Given the description of an element on the screen output the (x, y) to click on. 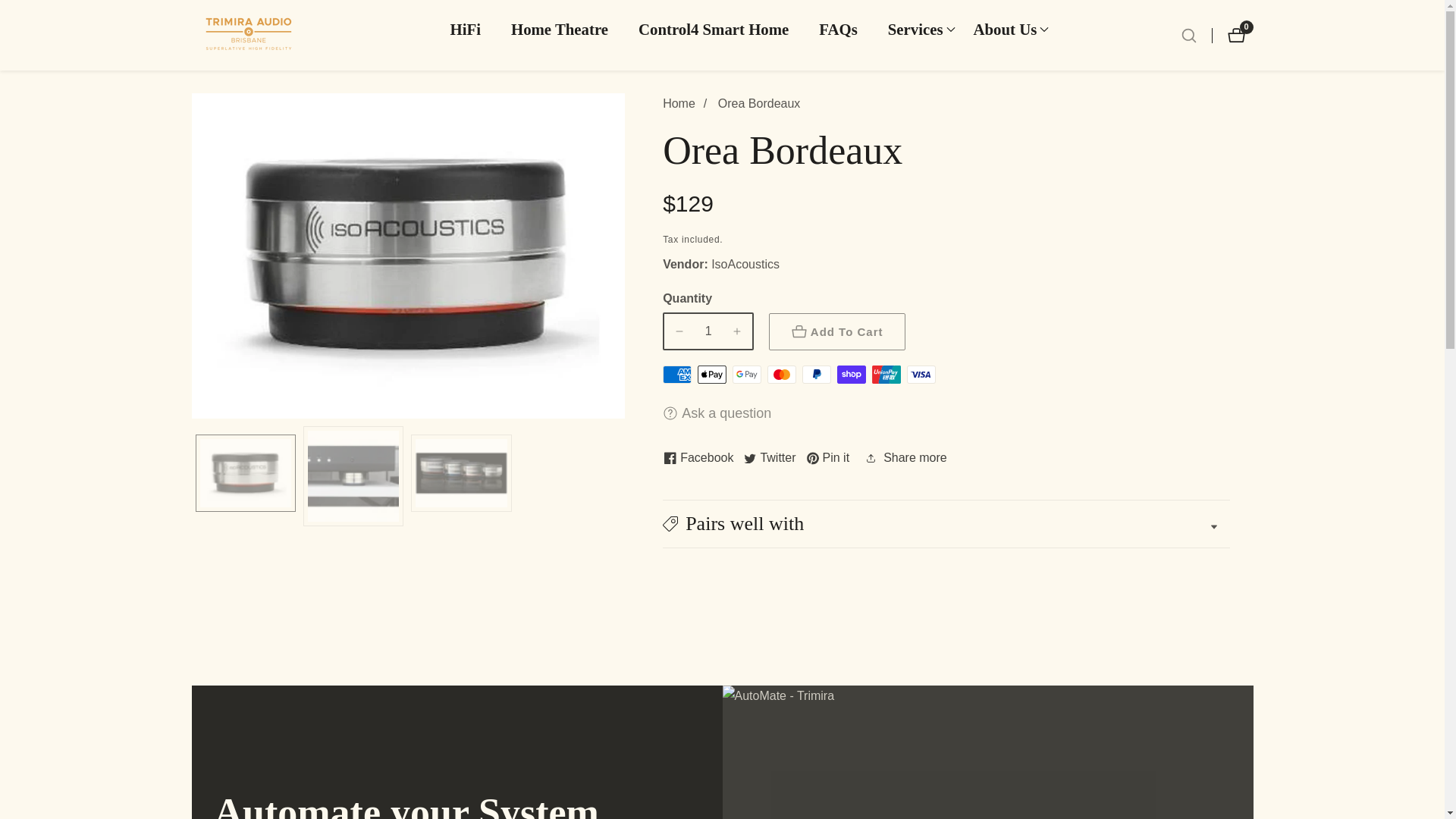
Follow us on Pinterest (828, 458)
Follow us on Facebook (1239, 34)
Mastercard (698, 458)
Home Theatre (781, 374)
Google Pay (559, 29)
American Express (746, 374)
Follow us on Twitter (676, 374)
Visa (769, 458)
Apple Pay (921, 374)
Shop Pay (711, 374)
PayPal (851, 374)
Union Pay (816, 374)
Control4 Smart Home (886, 374)
Skip to content (714, 29)
